Given the description of an element on the screen output the (x, y) to click on. 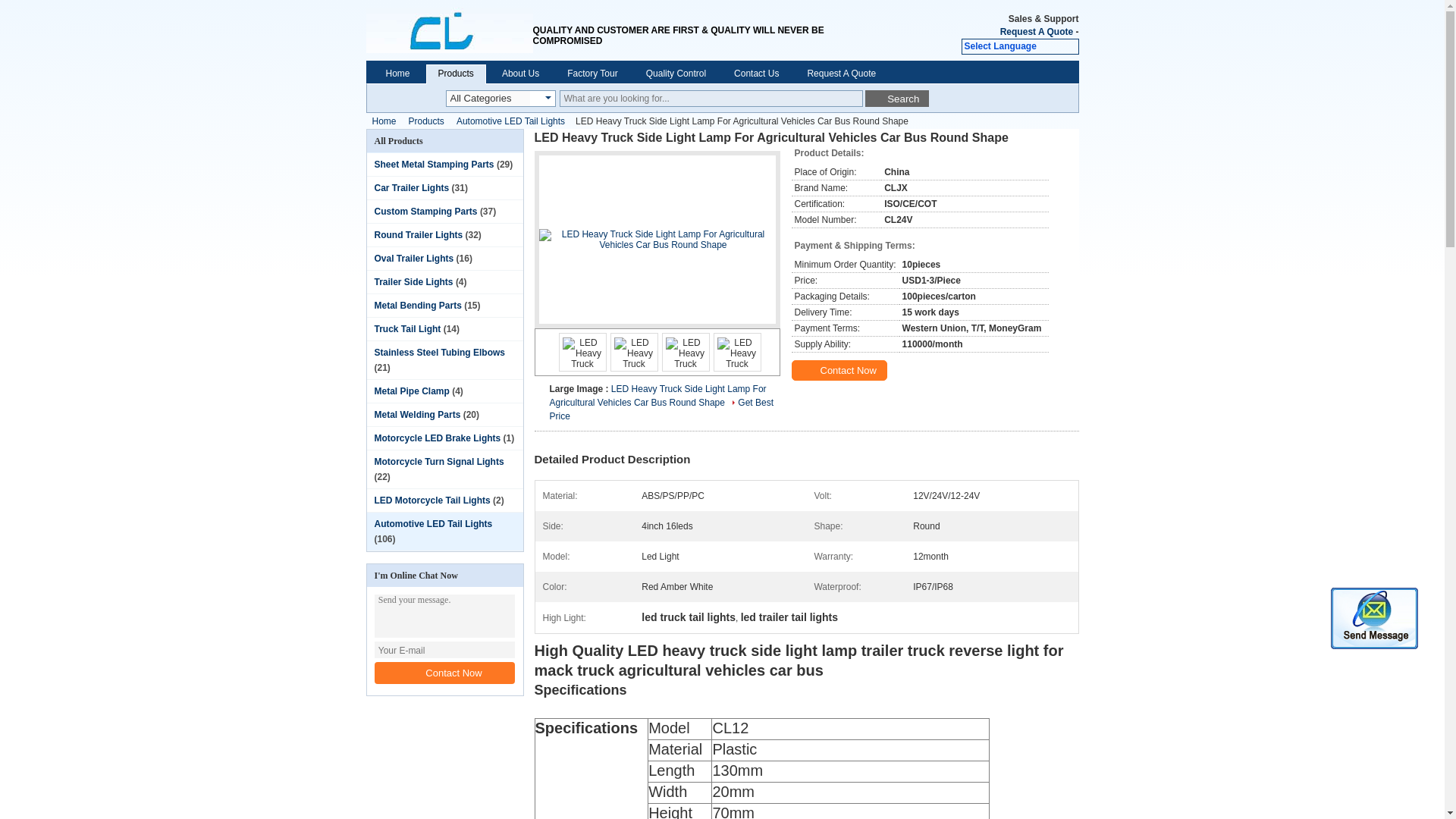
About Us (520, 73)
Shijiazhuang Chuanlin Machinery Manufacturing Co., Ltd. (448, 30)
Request A Quote (1036, 31)
Automotive LED Tail Lights (509, 120)
Products (455, 73)
Oval Trailer Lights (414, 258)
Sheet Metal Stamping Parts (434, 163)
Quality Control (675, 73)
Truck Tail Light (407, 328)
Products (426, 120)
Home (383, 120)
All Categories (487, 98)
Car Trailer Lights (411, 187)
Factory Tour (592, 73)
Contact Us (756, 73)
